Given the description of an element on the screen output the (x, y) to click on. 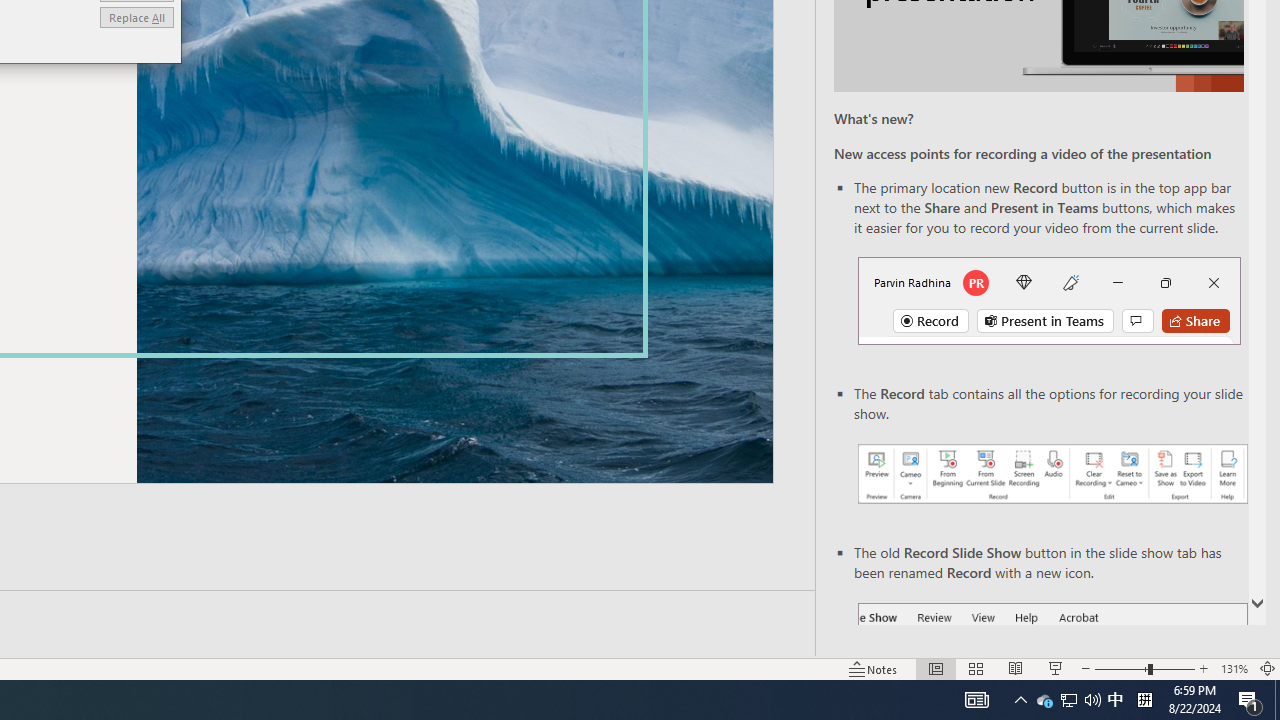
Tray Input Indicator - Chinese (Simplified, China) (1144, 699)
User Promoted Notification Area (1068, 699)
Q2790: 100% (1092, 699)
Replace All (136, 16)
Notification Chevron (1020, 699)
Zoom 131% (1234, 668)
Action Center, 1 new notification (1250, 699)
